Given the description of an element on the screen output the (x, y) to click on. 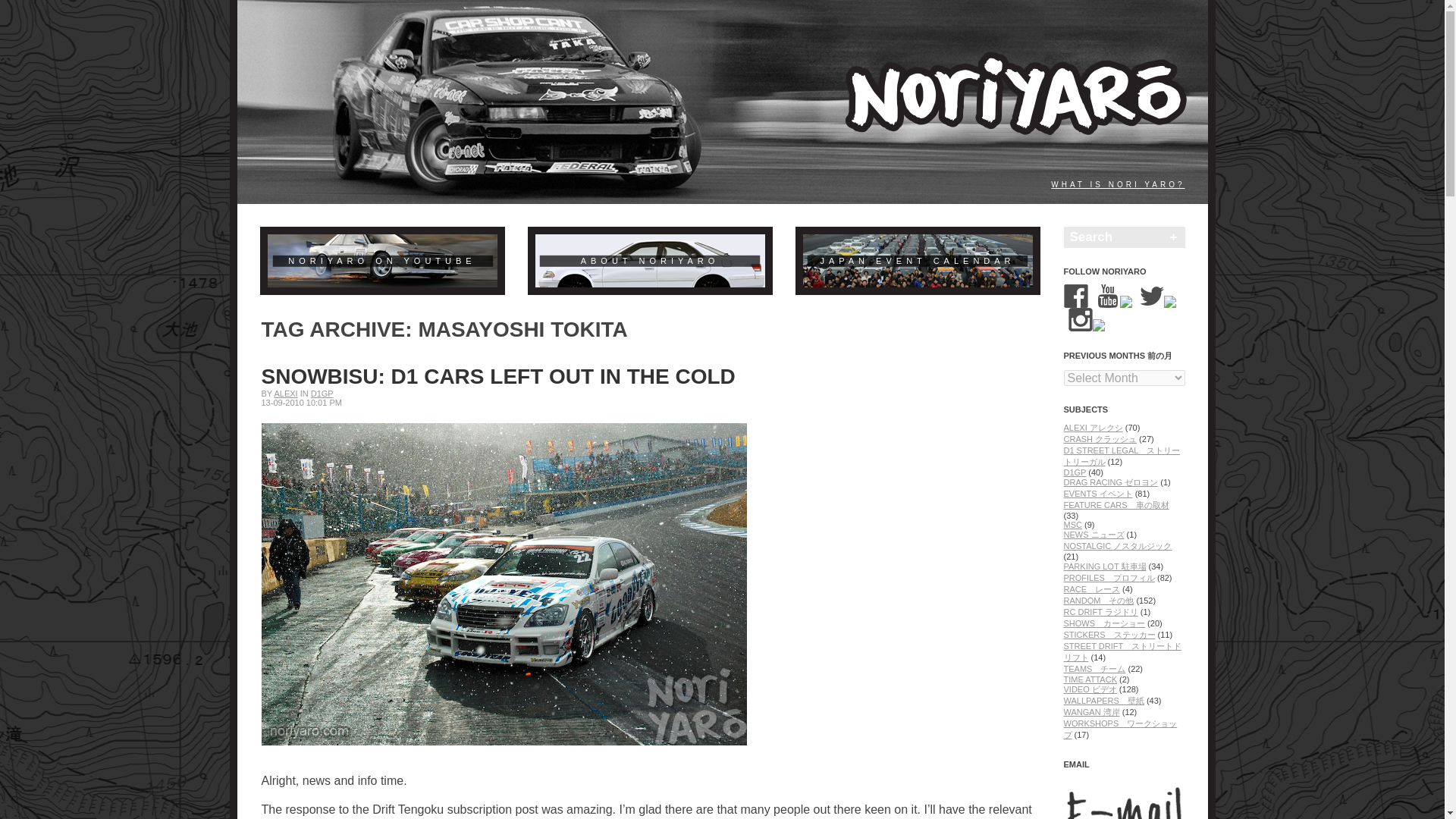
Posts by Alexi (285, 393)
ALEXI (285, 393)
SNOWBISU: D1 cars left out in the cold (497, 376)
SNOWBISU: D1 CARS LEFT OUT IN THE COLD (497, 376)
D1GP (322, 393)
WHAT IS NORI YARO? (1118, 184)
ABOUT NORIYARO (650, 260)
NORIYARO ON YOUTUBE (381, 260)
JAPAN EVENT CALENDAR (917, 260)
